Given the description of an element on the screen output the (x, y) to click on. 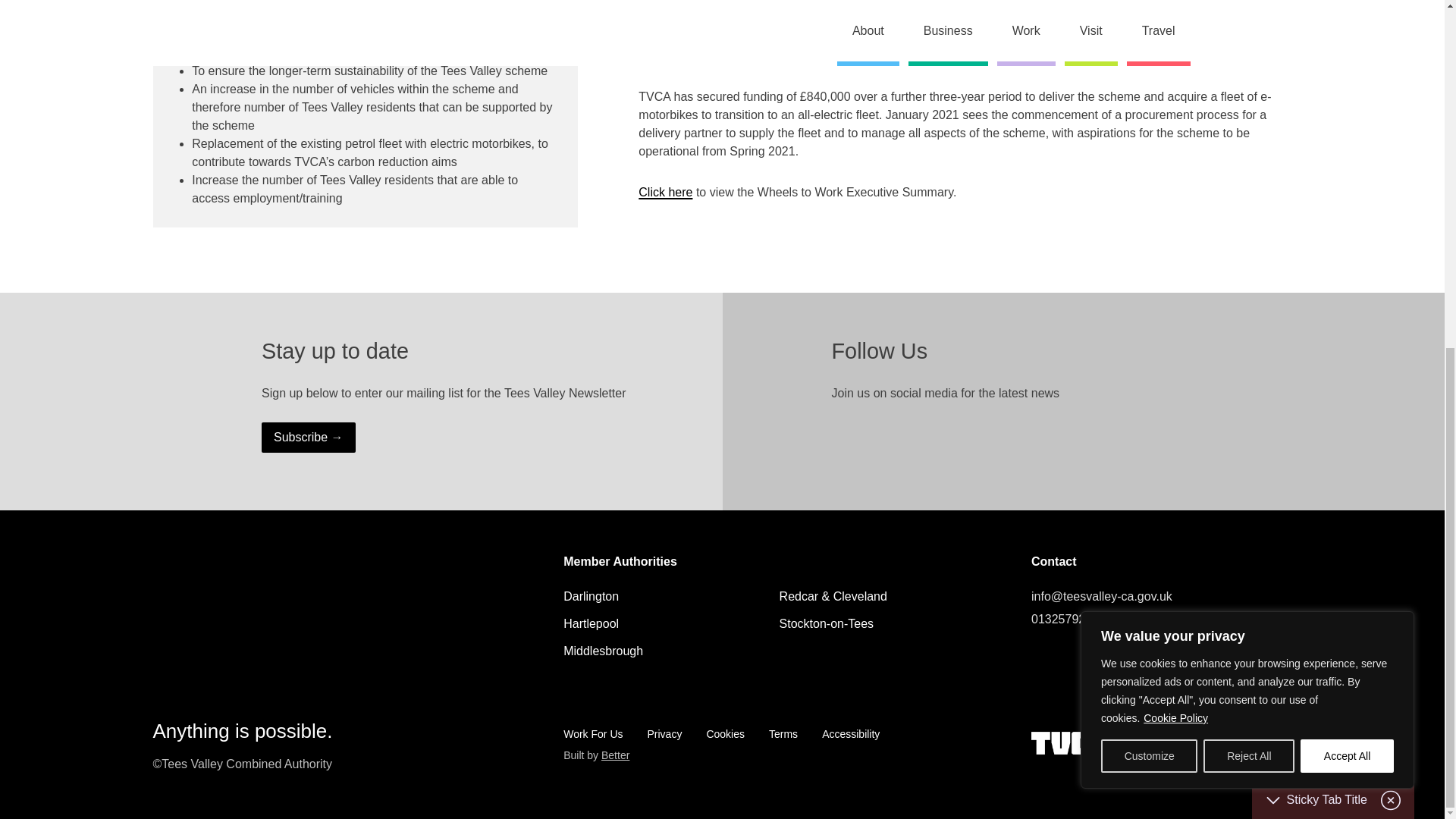
Follow us on Instagram (932, 431)
Follow us on YouTube (963, 431)
Visit Stockton-onTees Council (826, 623)
Follow us on LinkedIn (1103, 656)
Like us on Facebook (1072, 656)
Follow us on Instagram (1133, 656)
Call Us (1161, 619)
Email Us (1161, 597)
Visit Harltepool Council (590, 623)
Visit Middlesbrough Council (603, 650)
Reject All (1249, 155)
Visit Darlington Council (590, 595)
Follow us on LinkedIn (902, 431)
Like us on Facebook (872, 431)
Customize (1148, 155)
